Given the description of an element on the screen output the (x, y) to click on. 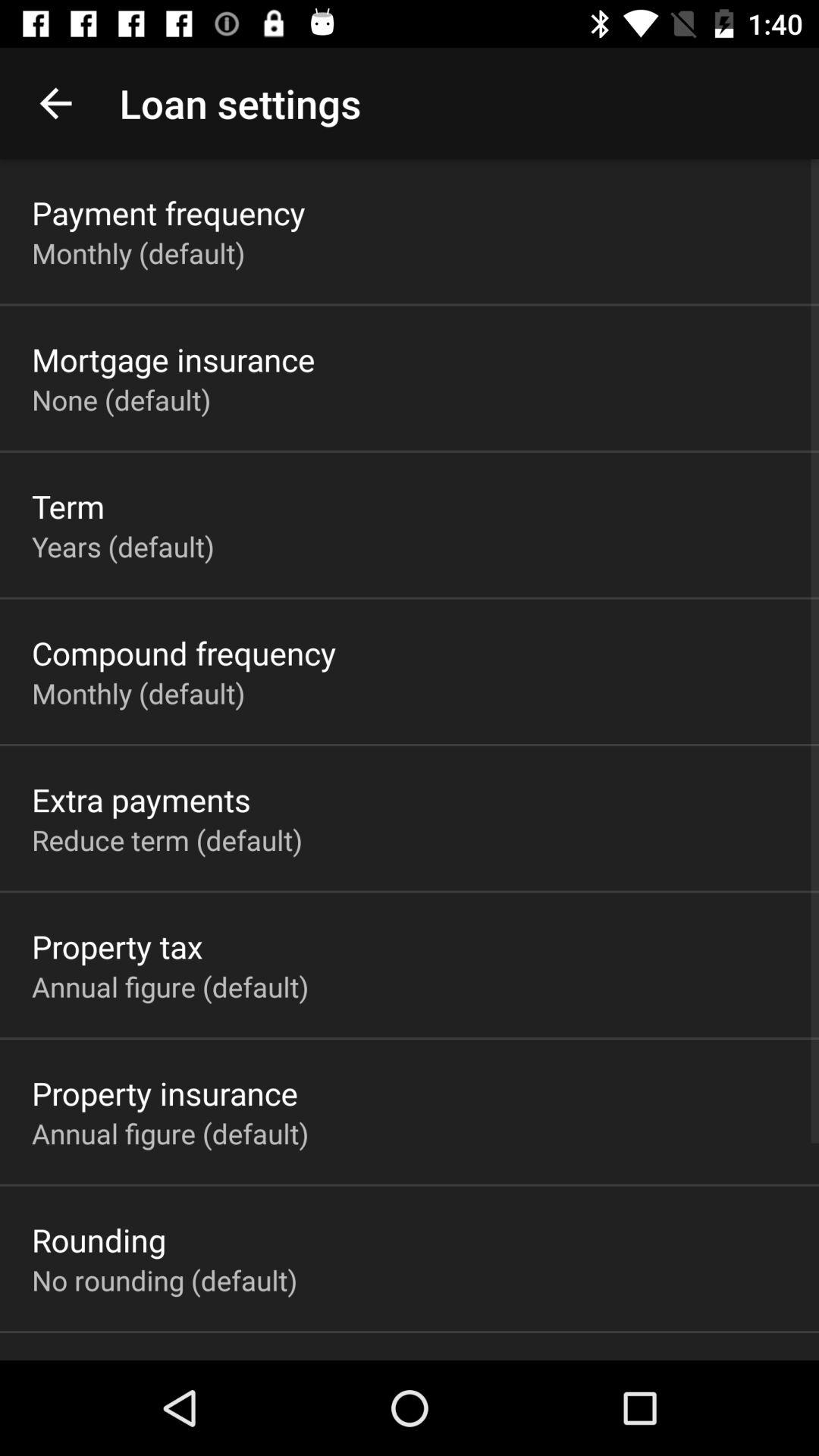
scroll until the reduce term (default) item (166, 839)
